Given the description of an element on the screen output the (x, y) to click on. 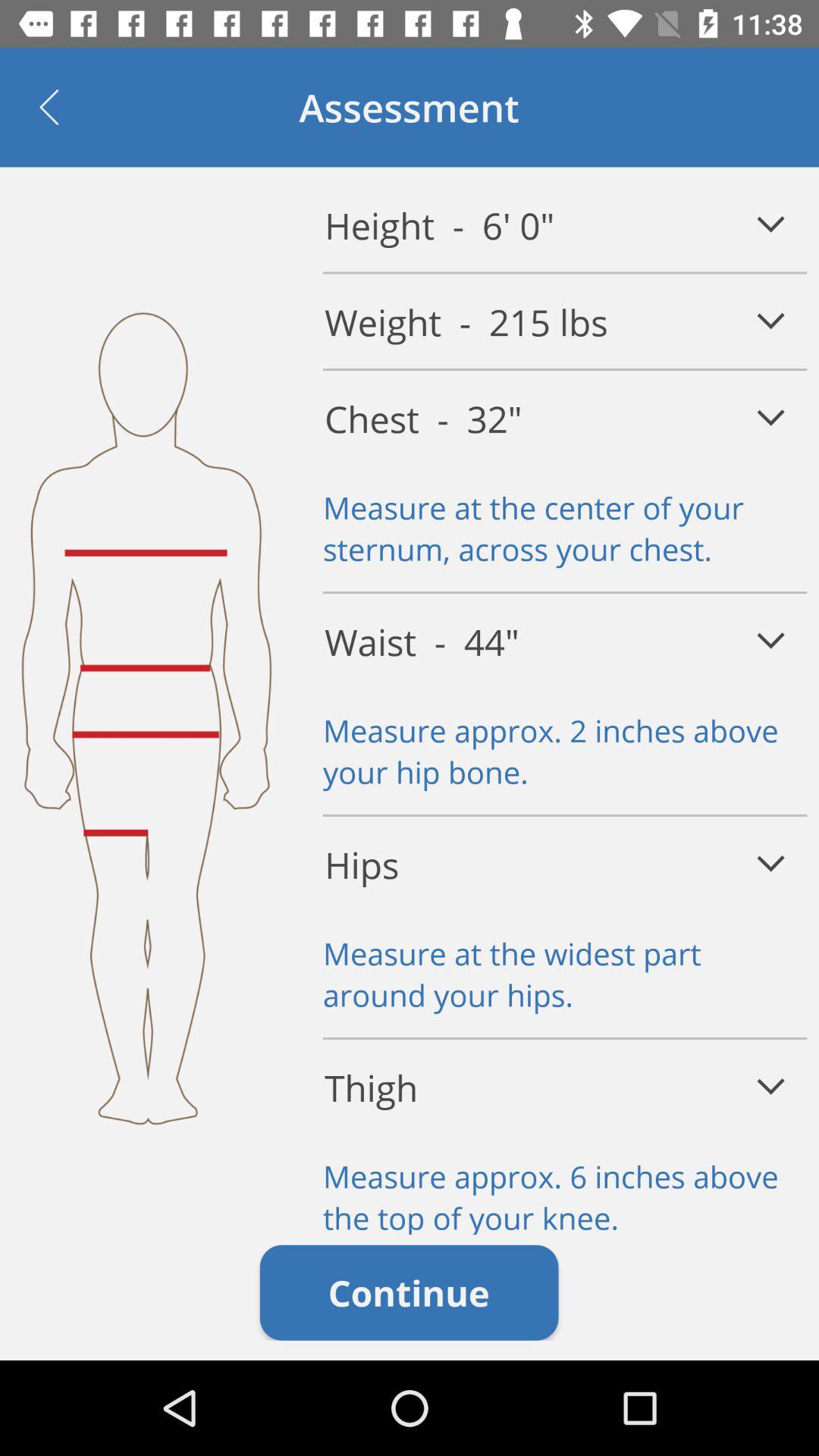
turn on the item next to assessment (49, 107)
